Given the description of an element on the screen output the (x, y) to click on. 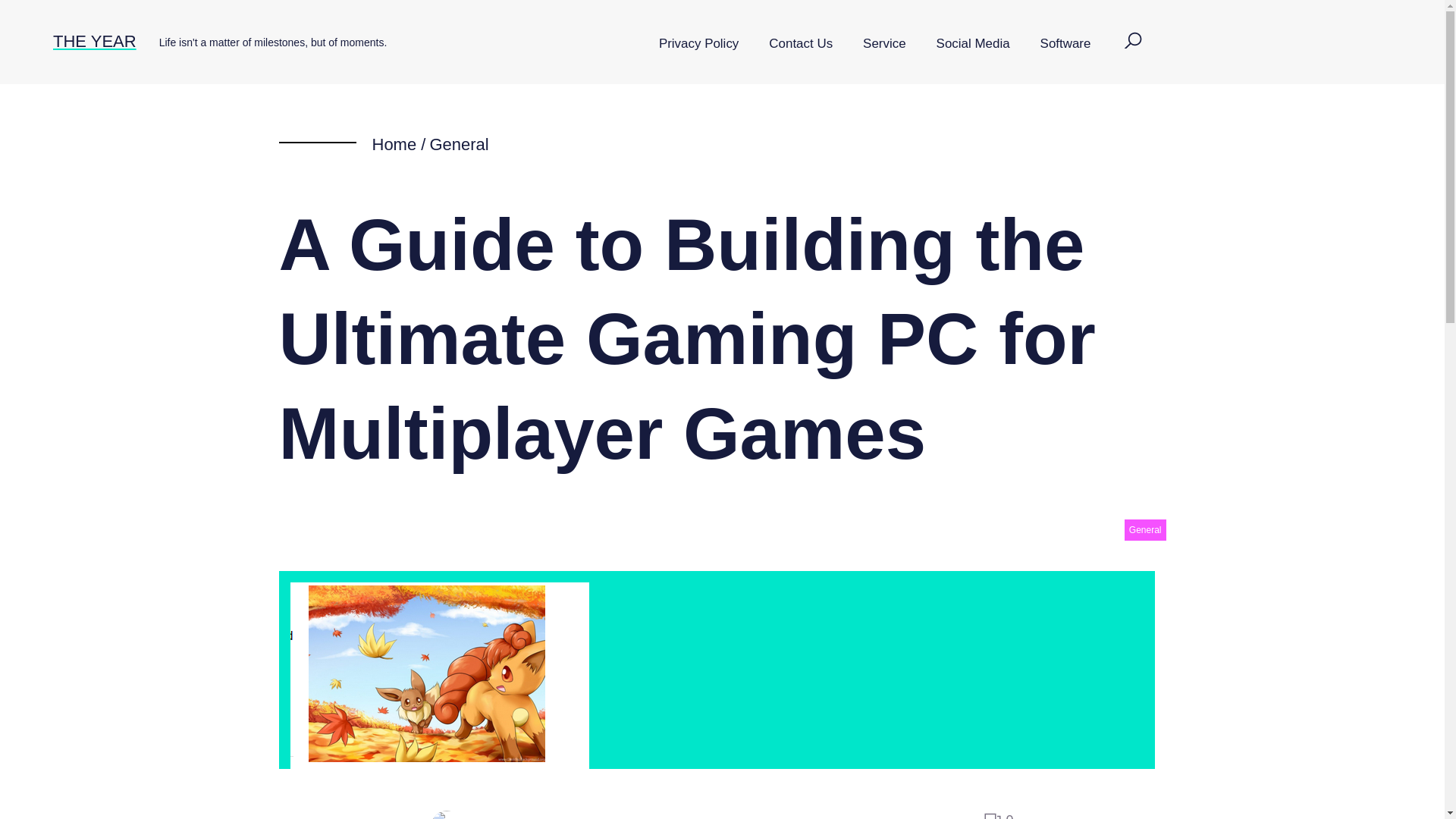
Service (883, 43)
THE YEAR (94, 40)
General (1145, 529)
Contact Us (800, 43)
Social Media (973, 43)
General (458, 144)
Home (393, 144)
Software (1065, 43)
Privacy Policy (698, 43)
